Given the description of an element on the screen output the (x, y) to click on. 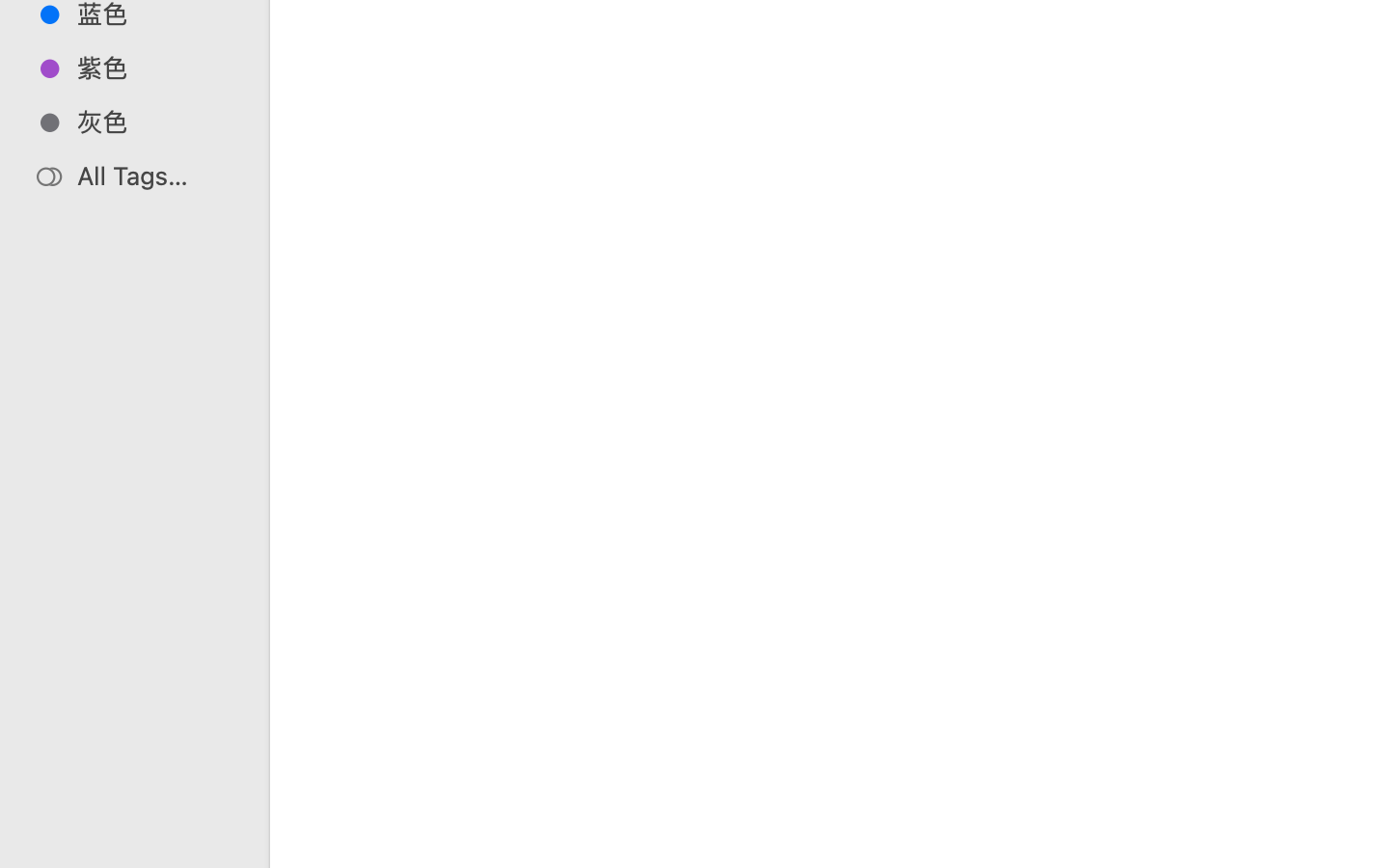
All Tags… Element type: AXStaticText (155, 175)
